Given the description of an element on the screen output the (x, y) to click on. 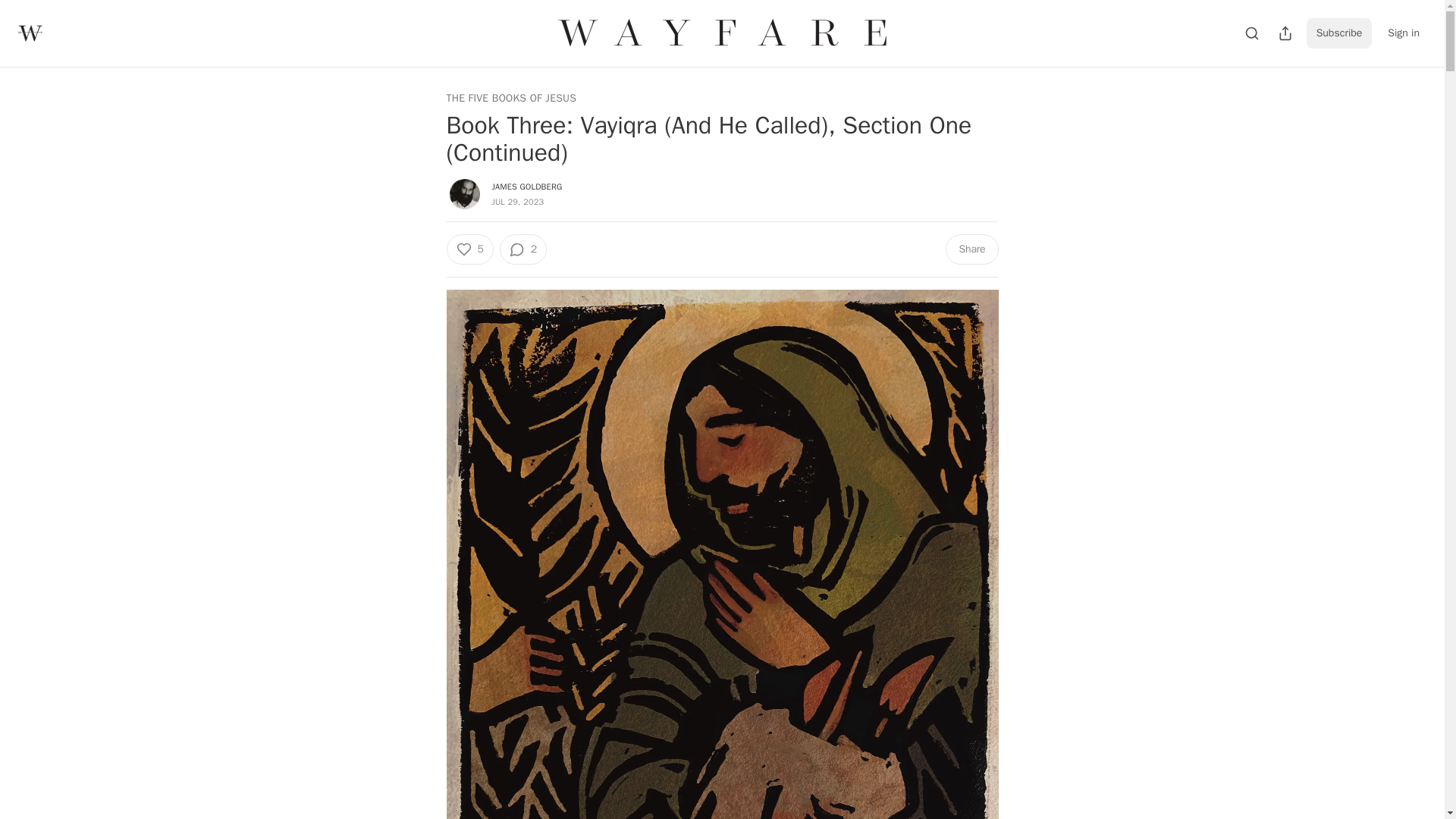
THE FIVE BOOKS OF JESUS (510, 98)
Share (970, 249)
JAMES GOLDBERG (527, 185)
Sign in (1403, 33)
Subscribe (1339, 33)
5 (469, 249)
2 (523, 249)
